Given the description of an element on the screen output the (x, y) to click on. 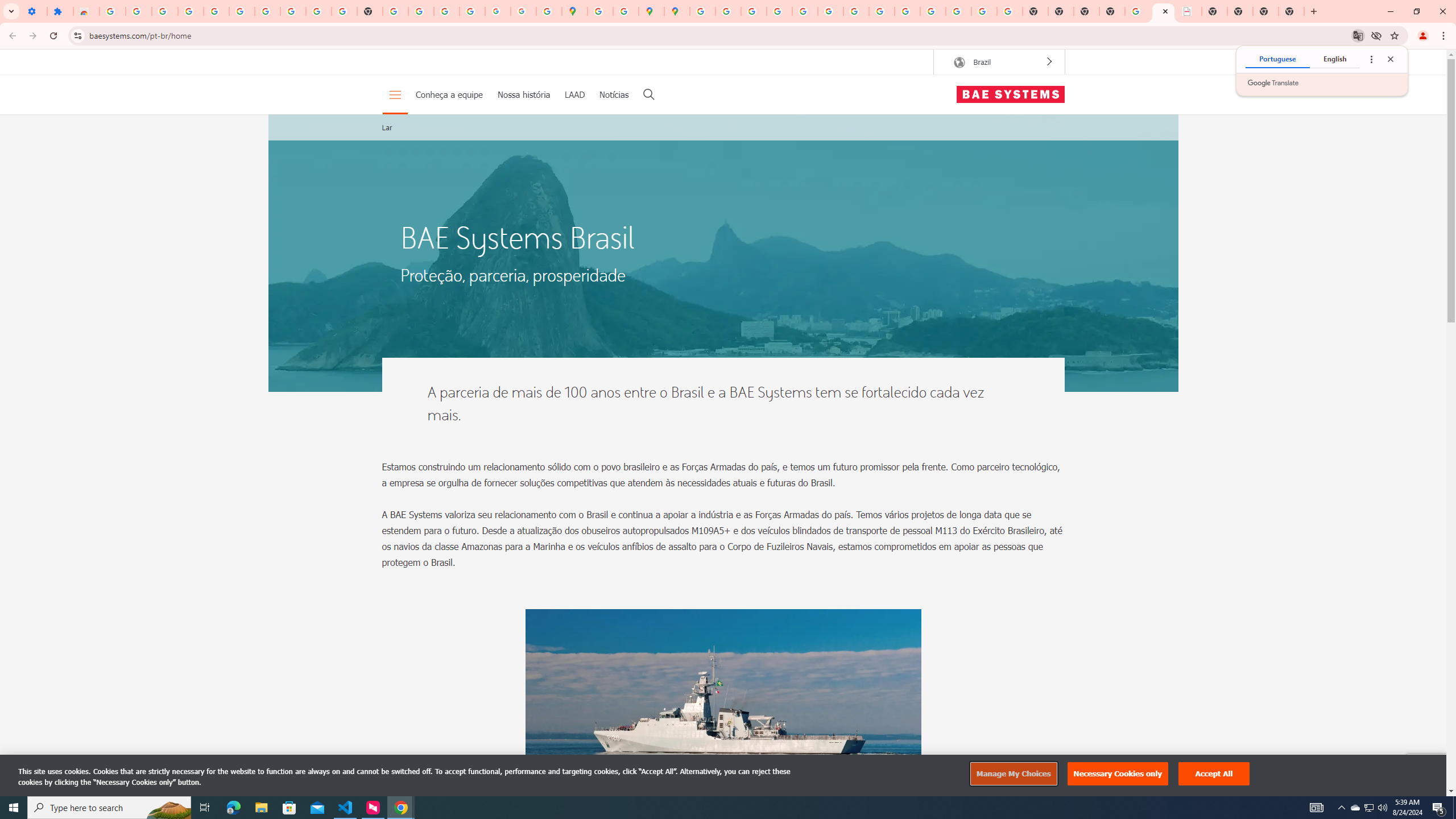
Safety in Our Products - Google Safety Center (625, 11)
Delete photos & videos - Computer - Google Photos Help (165, 11)
Privacy Help Center - Policies Help (779, 11)
Reviews: Helix Fruit Jump Arcade Game (86, 11)
Portuguese (1277, 58)
AutomationID: region-selector-top (999, 61)
